Given the description of an element on the screen output the (x, y) to click on. 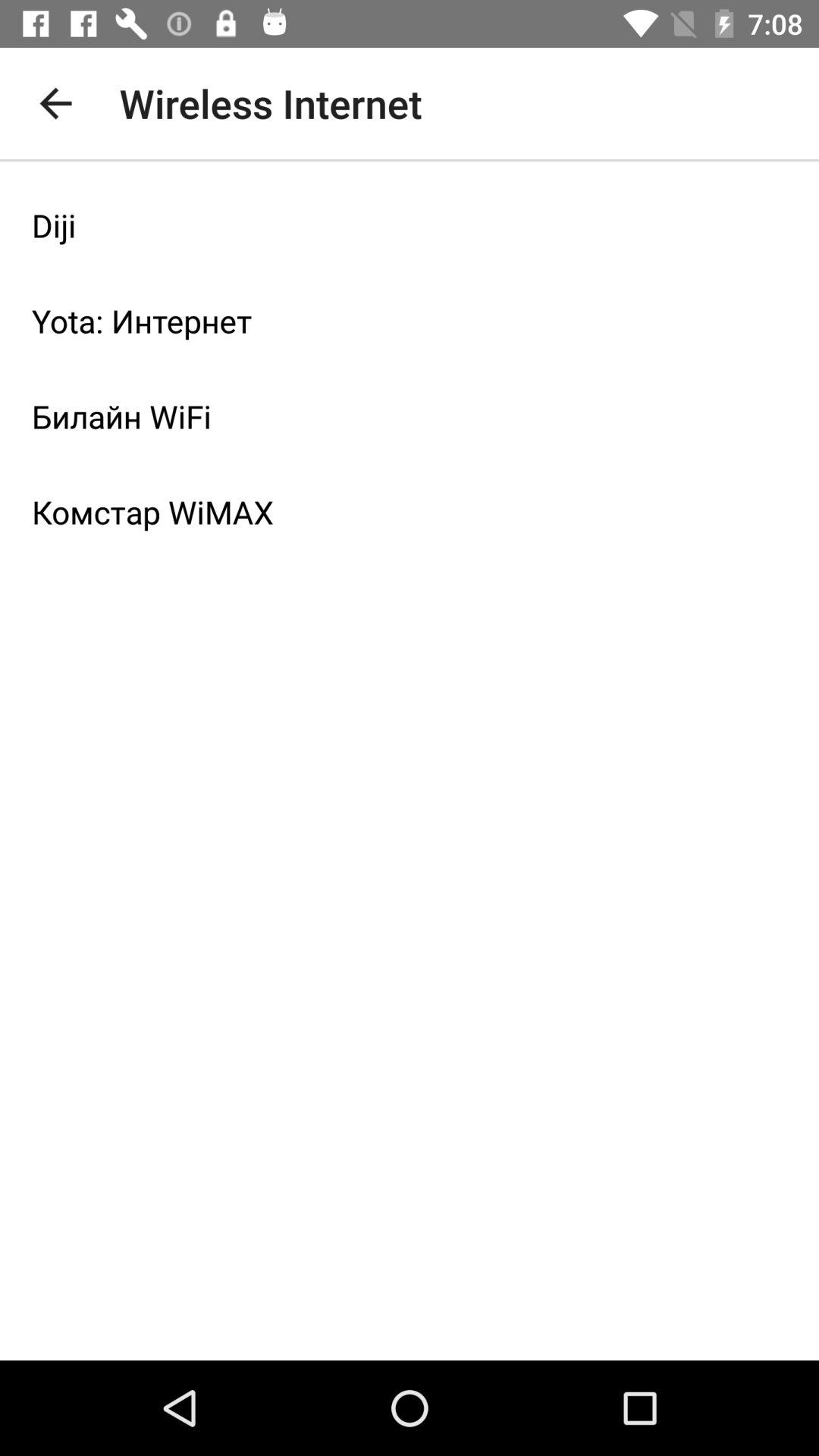
turn off item below diji item (409, 320)
